Given the description of an element on the screen output the (x, y) to click on. 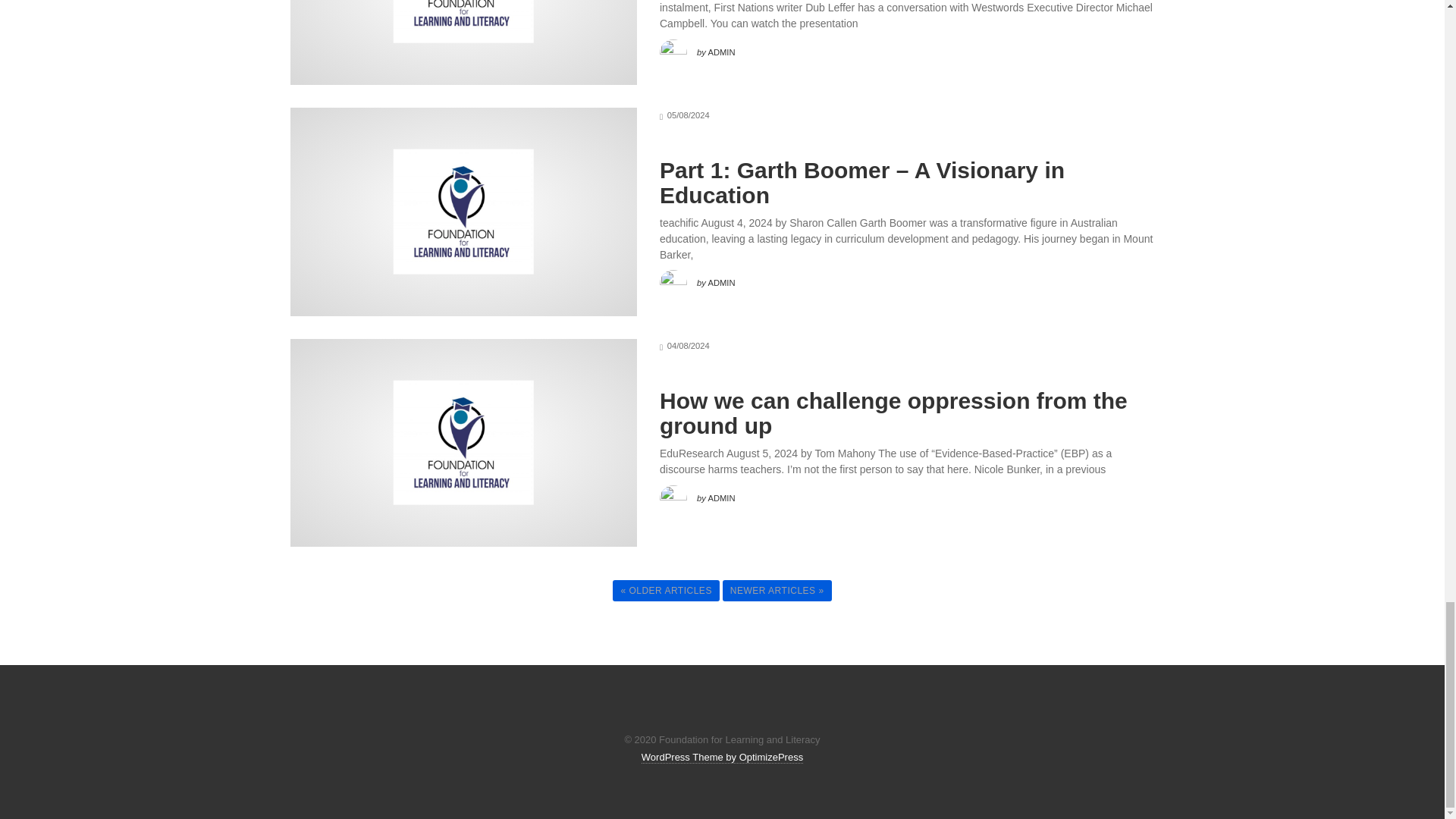
Foundation for Learning and Literacy (463, 21)
Foundation for Learning and Literacy (463, 211)
Foundation for Learning and Literacy (463, 442)
